Given the description of an element on the screen output the (x, y) to click on. 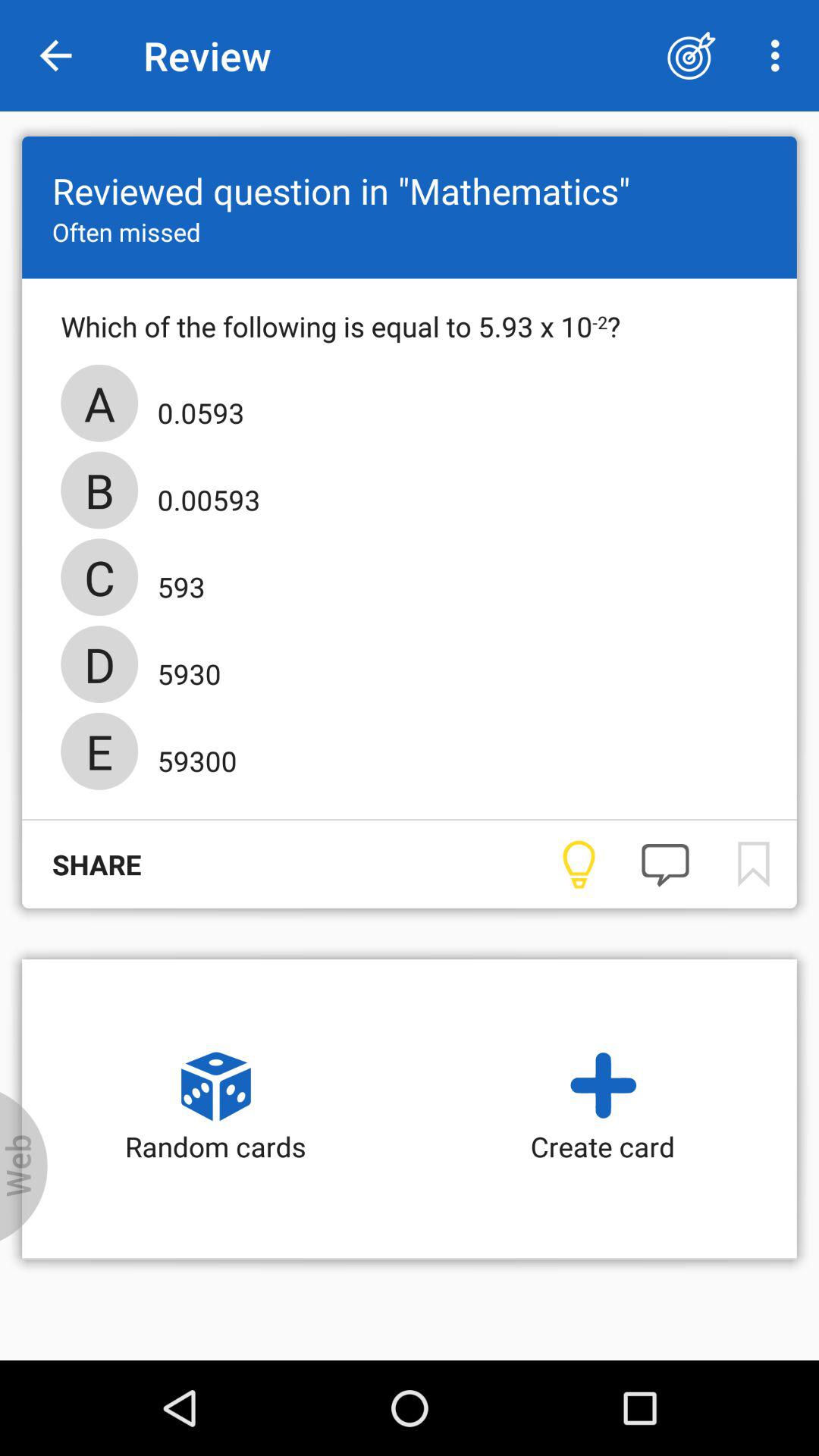
share idea (577, 864)
